Given the description of an element on the screen output the (x, y) to click on. 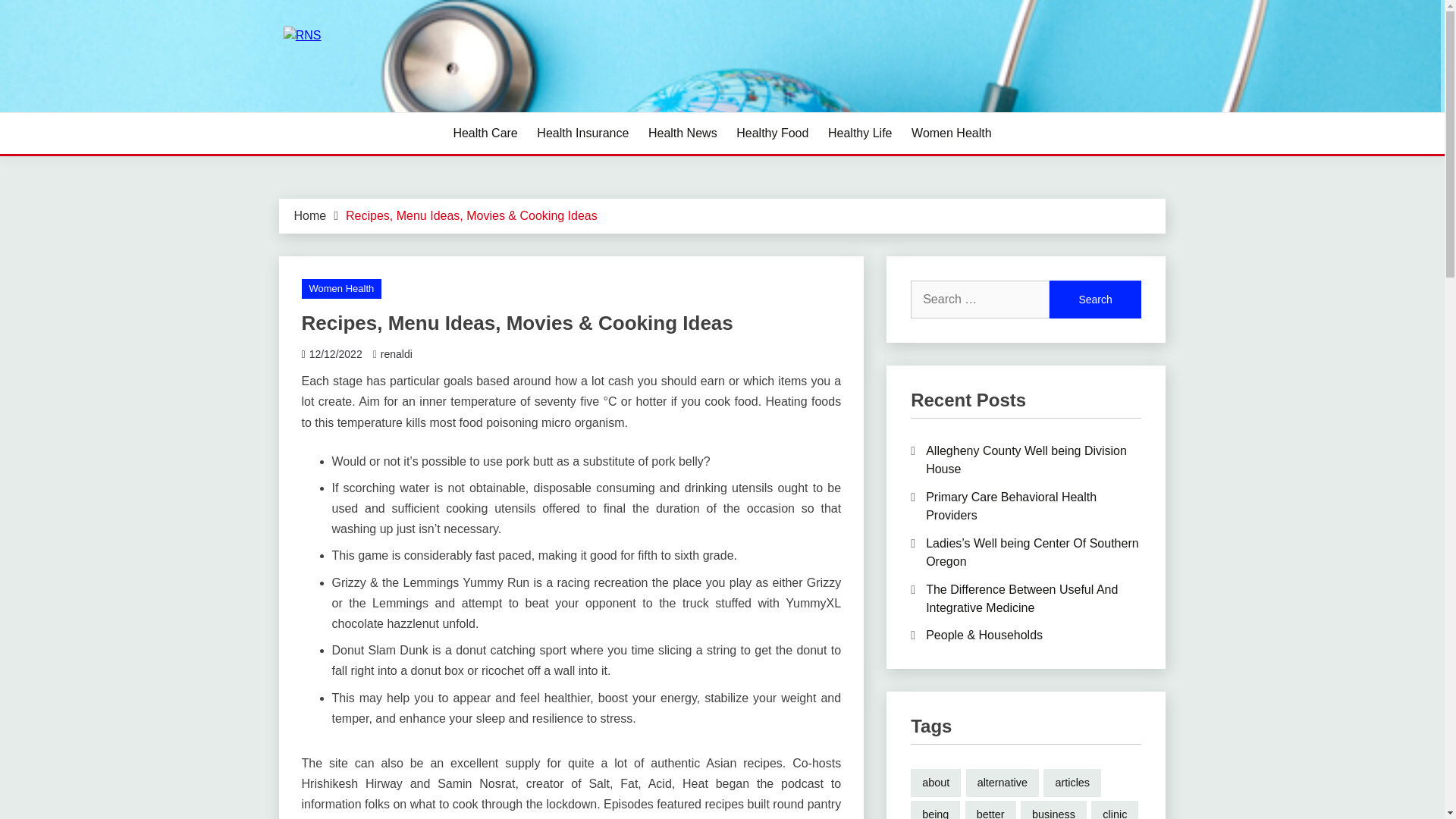
alternative (1002, 783)
Search (1095, 299)
Women Health (341, 288)
Home (310, 215)
being (935, 809)
Allegheny County Well being Division House (1026, 459)
Primary Care Behavioral Health Providers (1011, 505)
Health News (682, 133)
The Difference Between Useful And Integrative Medicine (1022, 598)
clinic (1114, 809)
